Given the description of an element on the screen output the (x, y) to click on. 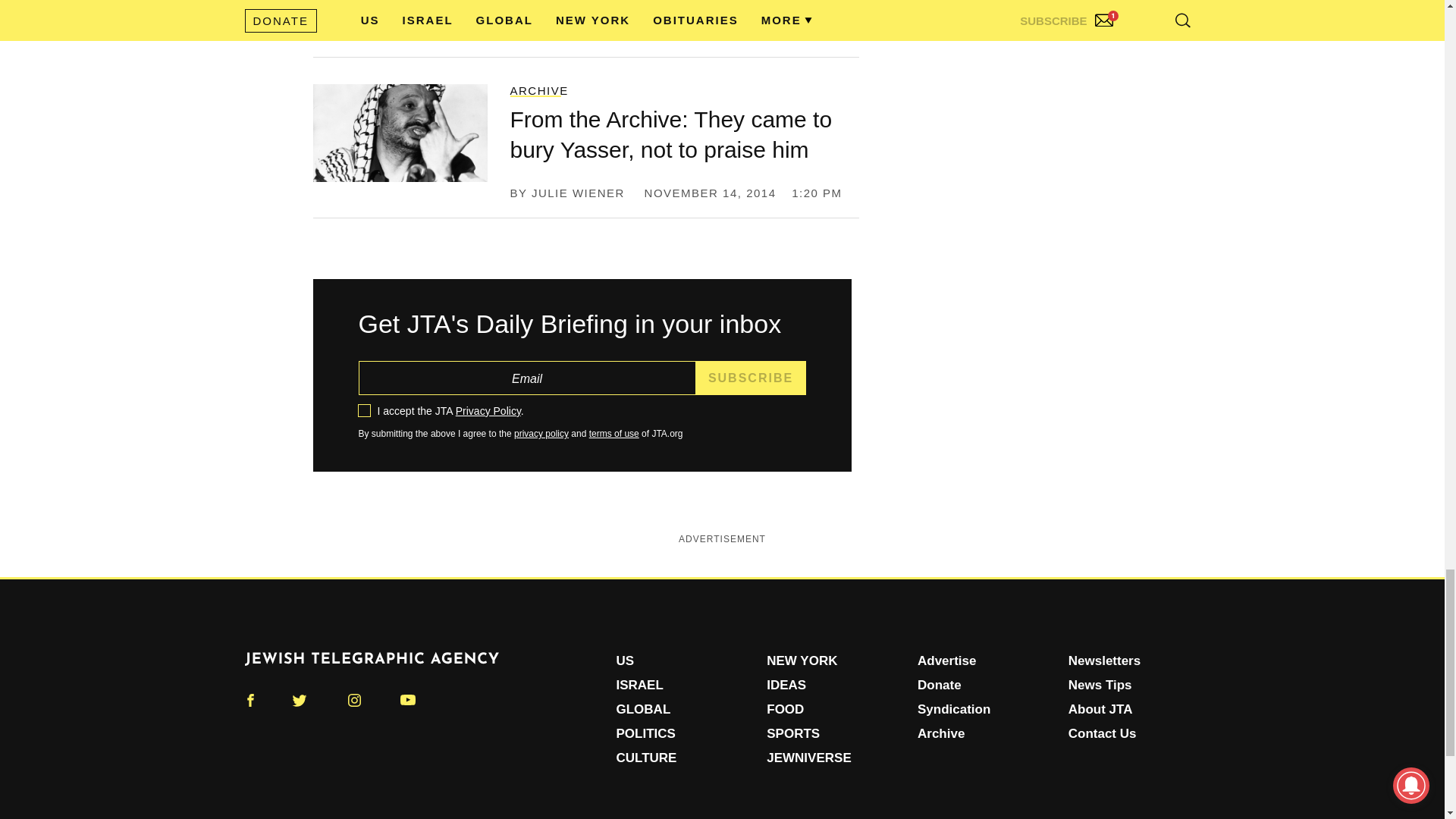
Subscribe (750, 377)
